Given the description of an element on the screen output the (x, y) to click on. 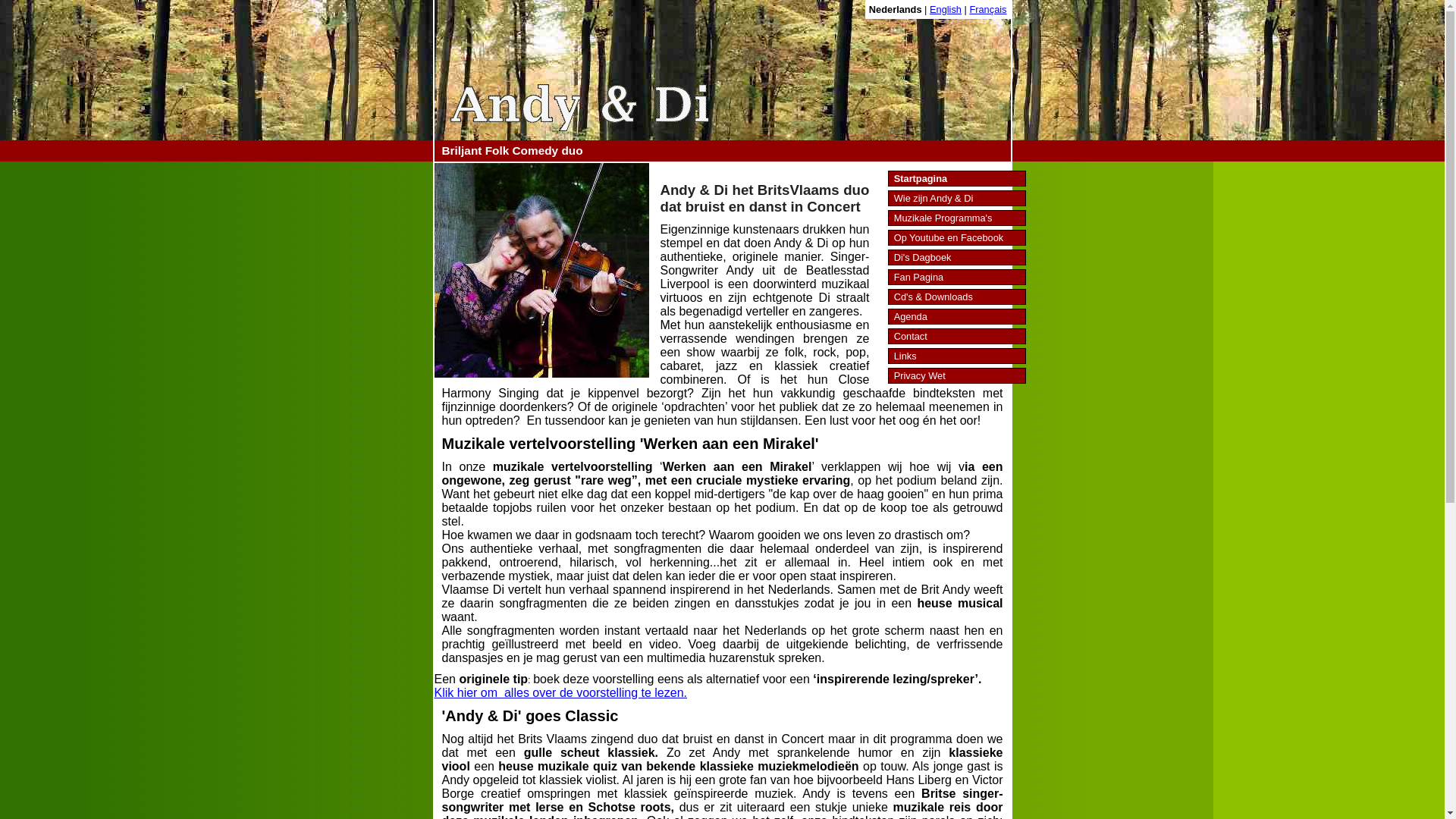
Klik hier om  alles over de voorstelling te lezen. Element type: text (560, 692)
Muzikale Programma's Element type: text (956, 217)
Di's Dagboek Element type: text (956, 257)
Agenda Element type: text (956, 316)
Cd's & Downloads Element type: text (956, 296)
Wie zijn Andy & Di Element type: text (956, 198)
Op Youtube en Facebook Element type: text (956, 237)
Contact Element type: text (956, 336)
Fan Pagina Element type: text (956, 277)
English Element type: text (945, 9)
Links Element type: text (956, 356)
Privacy Wet Element type: text (956, 375)
